Given the description of an element on the screen output the (x, y) to click on. 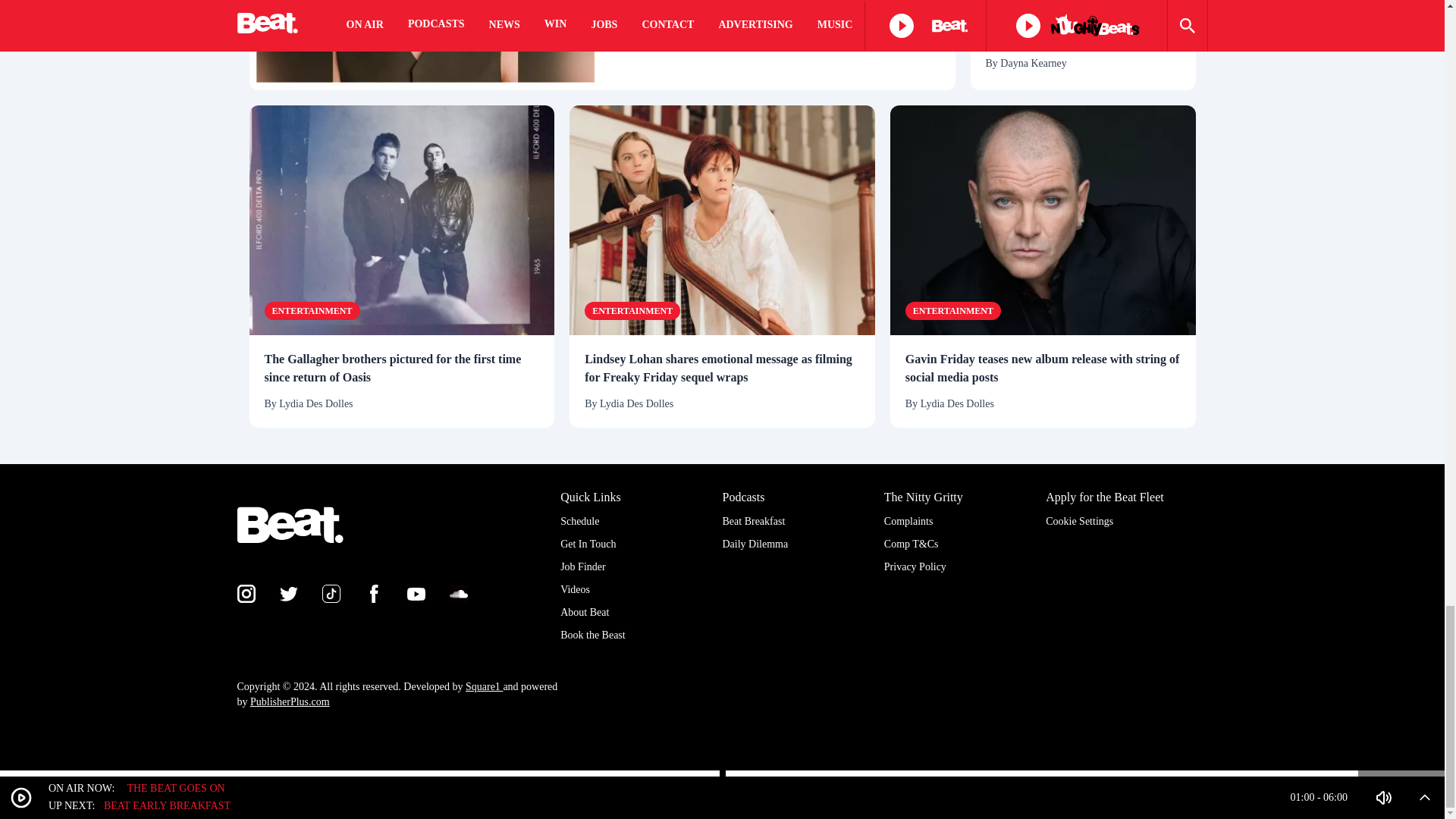
Entertainment (311, 311)
Barry Keoghan signed up for the Peaky Blinders film (425, 45)
Kilkenny DJ 'Welshy' a part of winning Junior B team (1082, 27)
